Given the description of an element on the screen output the (x, y) to click on. 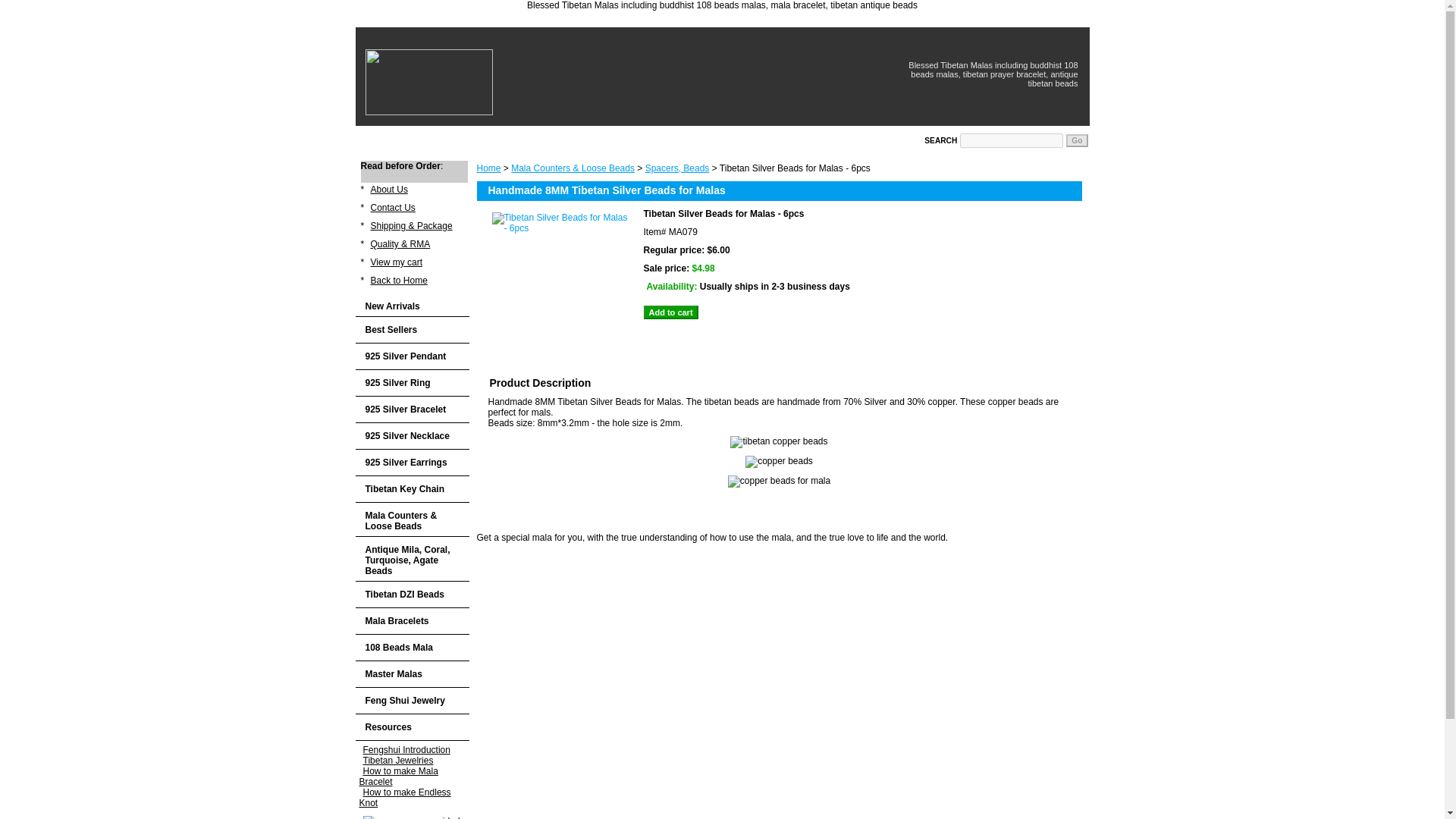
Antique Mila, Coral, Turquoise, Agate Beads (411, 559)
Resources (411, 727)
925 Silver Earrings (411, 462)
925 Silver Ring (411, 383)
Feng Shui Jewelry (411, 700)
About Us (389, 189)
Master Malas (411, 673)
Tibetan Jewelries (398, 760)
925 Silver Necklace (411, 436)
925 Silver Ring (411, 383)
New Arrivals (411, 239)
Back to Home (398, 280)
Best Sellers (411, 329)
Tibetan Key Chain (411, 488)
925 Silver Pendant (411, 356)
